Given the description of an element on the screen output the (x, y) to click on. 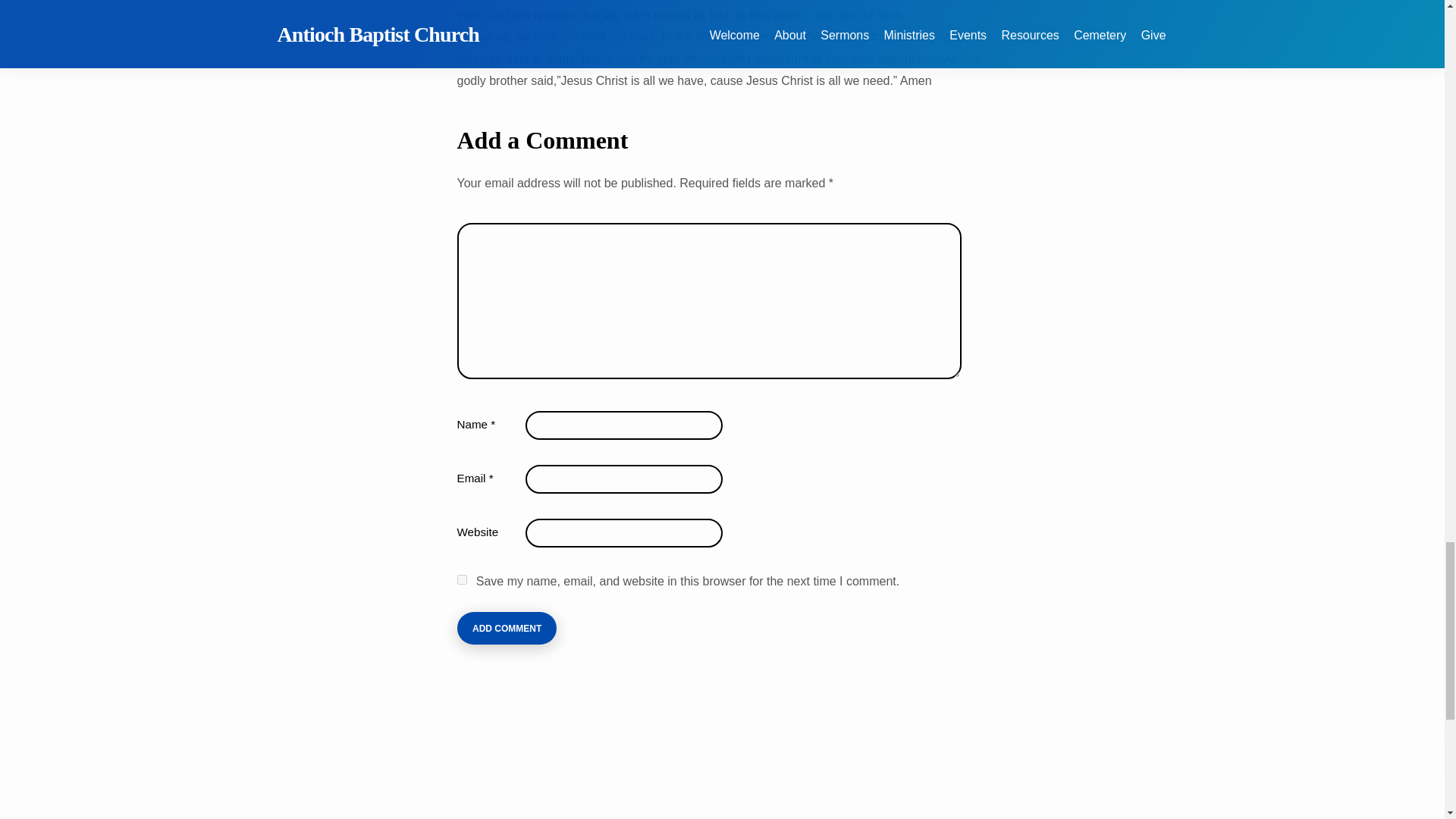
Add Comment (506, 627)
yes (461, 579)
Add Comment (506, 627)
